Given the description of an element on the screen output the (x, y) to click on. 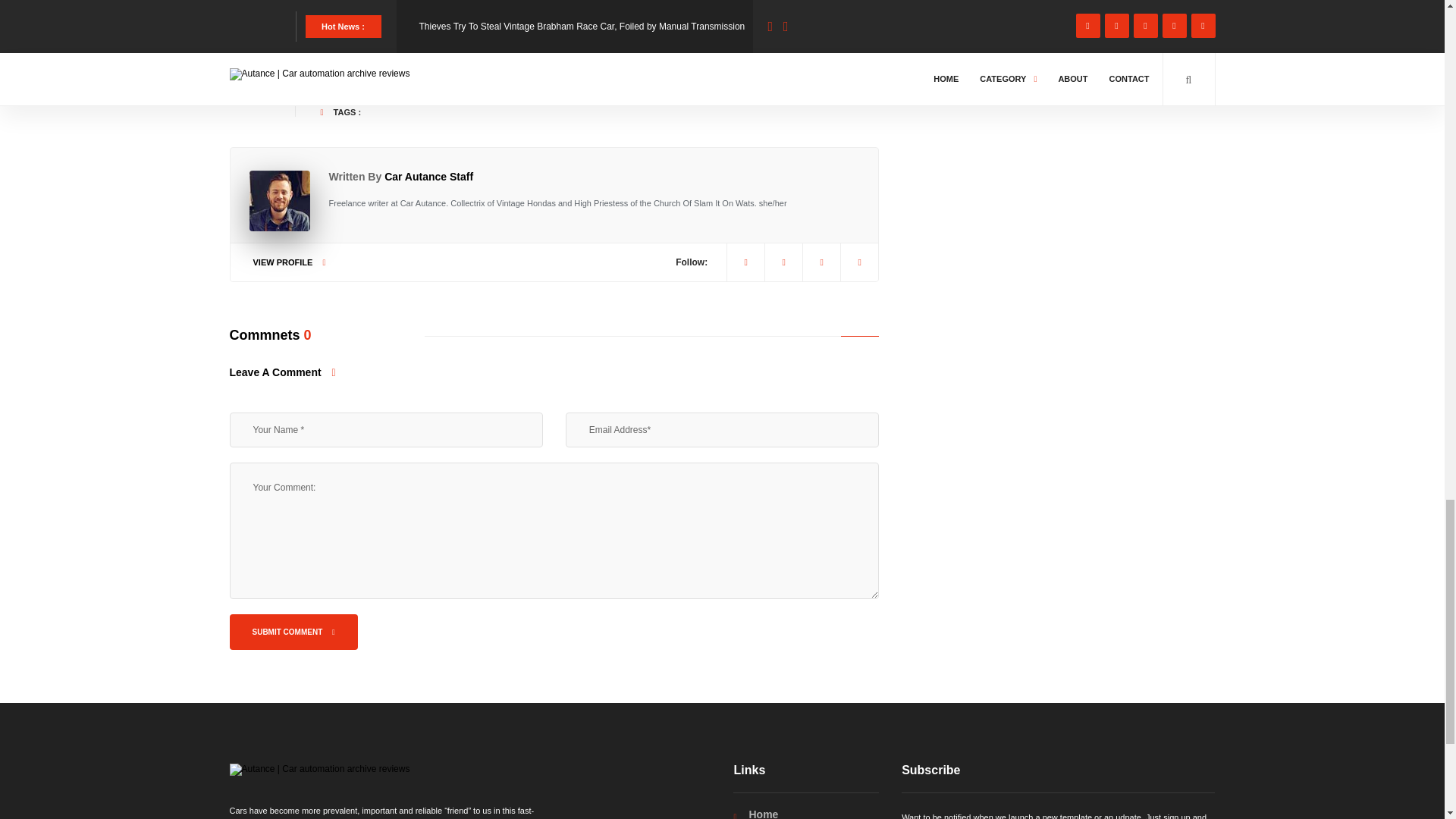
SUBMIT COMMENT (292, 632)
VIEW PROFILE (289, 262)
Car Autance Staff (428, 176)
